Given the description of an element on the screen output the (x, y) to click on. 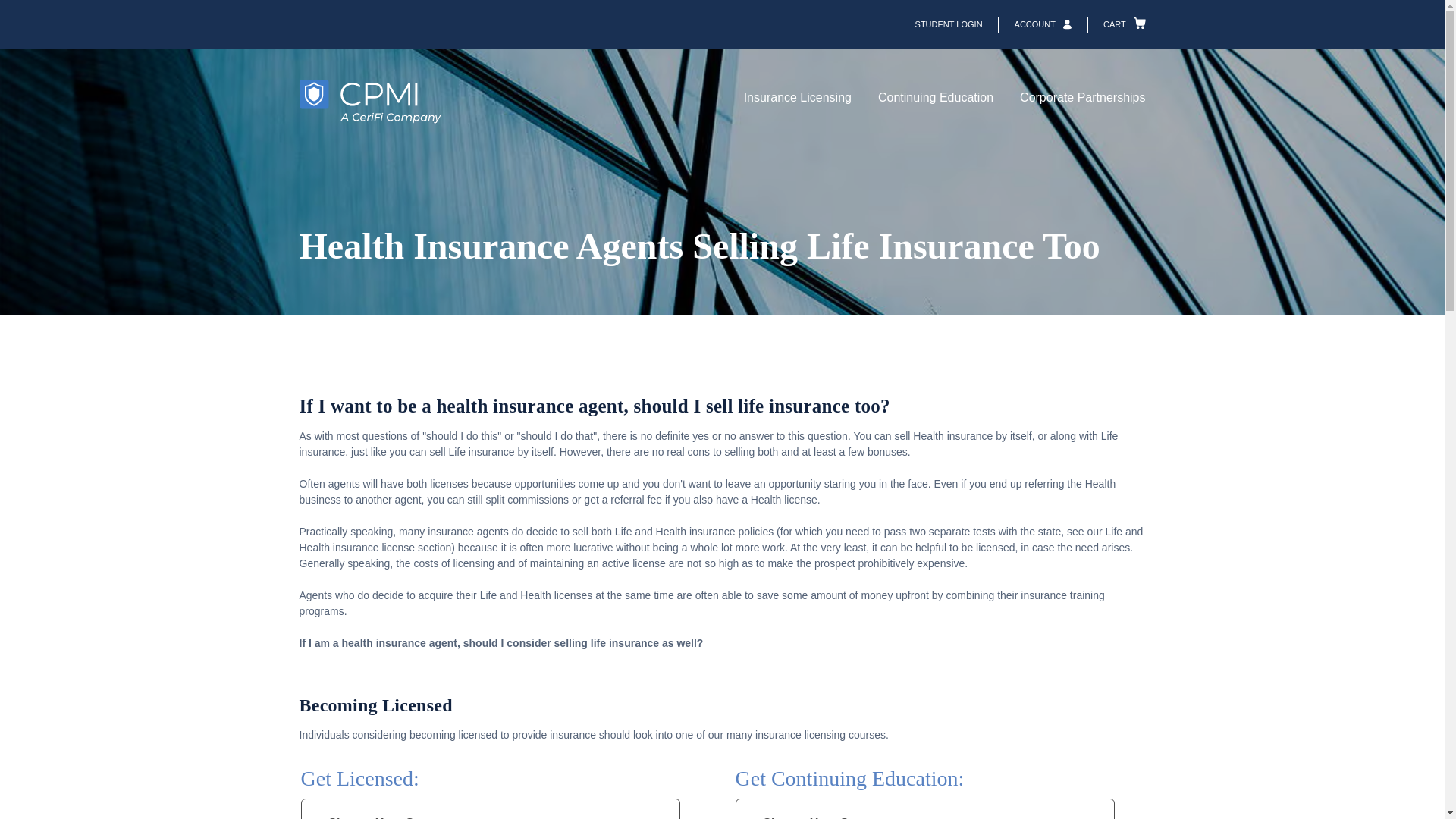
CPMI (369, 101)
Corporate Partnerships (1082, 101)
STUDENT LOGIN (948, 24)
CART (1108, 23)
ACCOUNT (1026, 23)
Insurance Licensing (797, 101)
Continuing Education (934, 101)
